Given the description of an element on the screen output the (x, y) to click on. 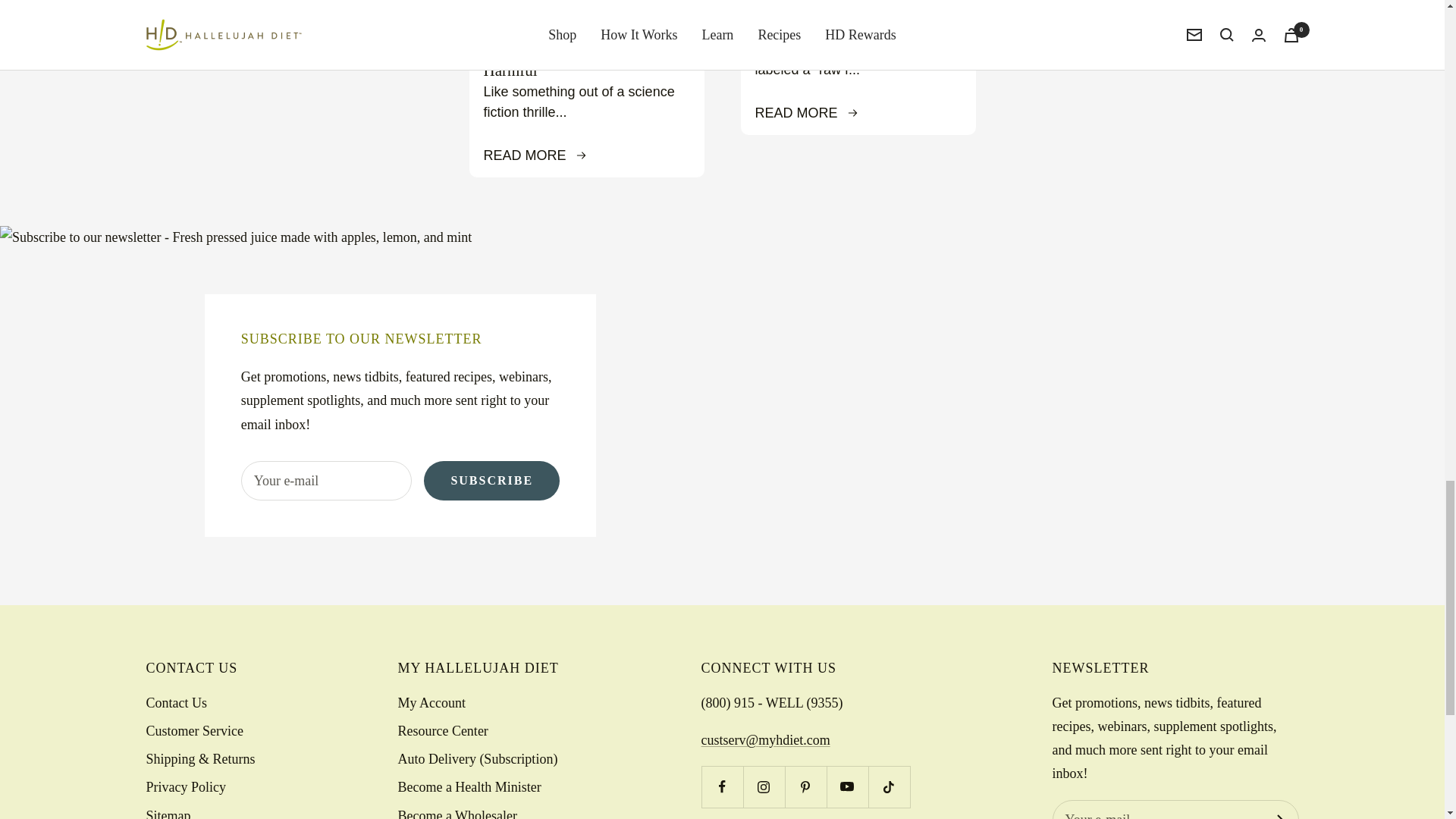
Register (1277, 816)
